Given the description of an element on the screen output the (x, y) to click on. 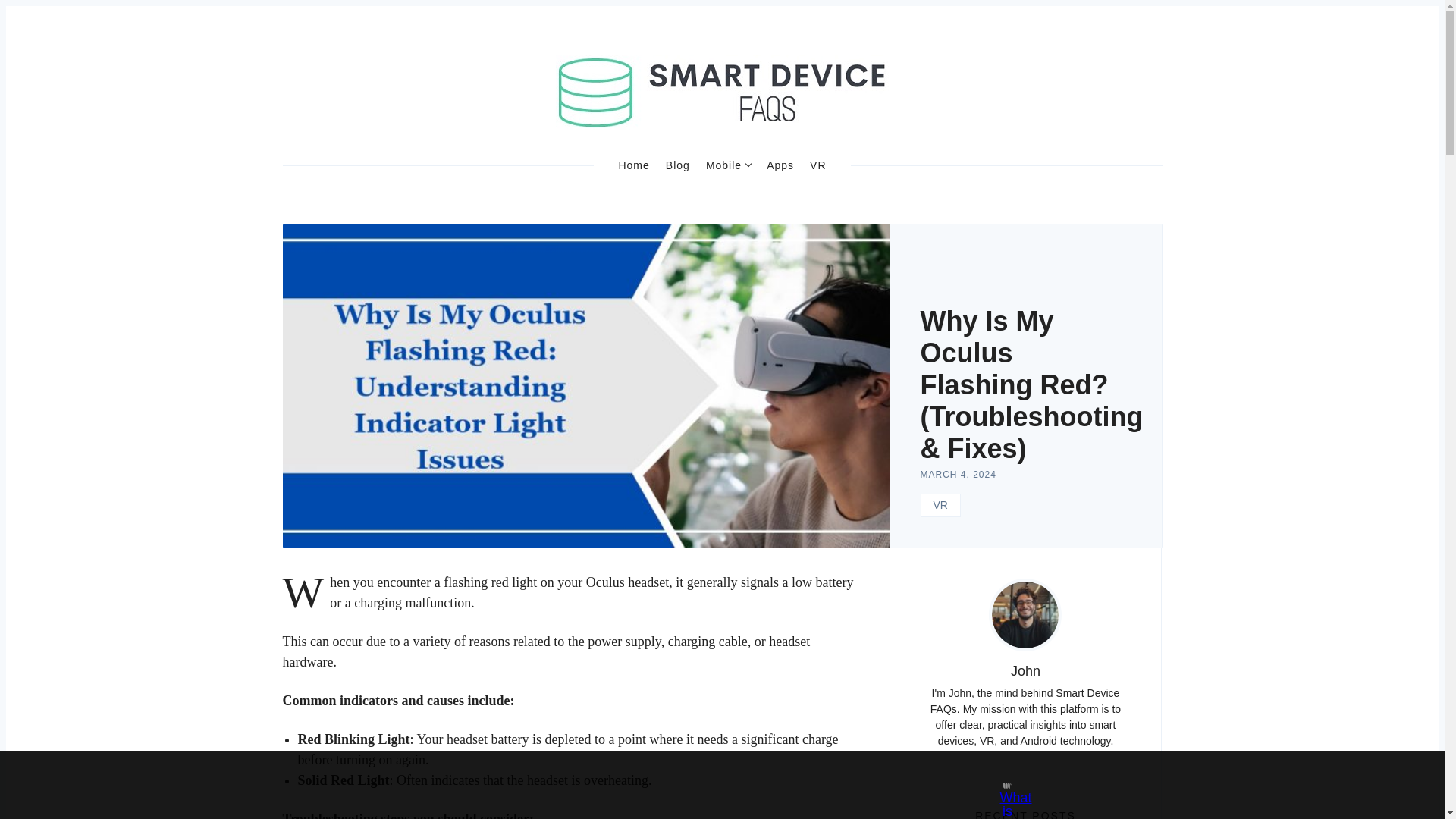
Mobile (728, 165)
John (1025, 670)
VR (940, 504)
3rd party ad content (708, 785)
